Given the description of an element on the screen output the (x, y) to click on. 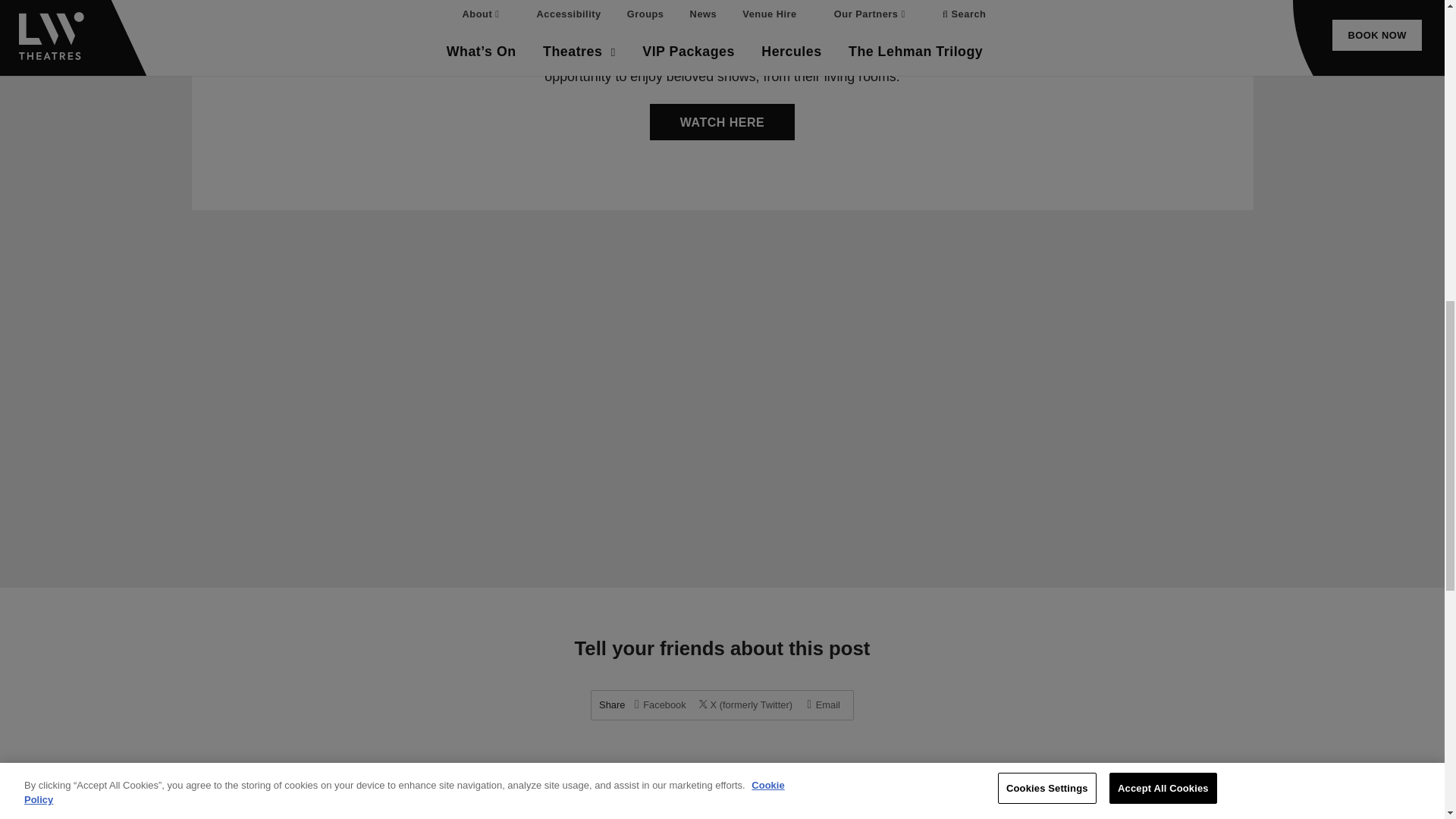
WATCH HERE (721, 122)
Email (822, 704)
Facebook (659, 704)
